Given the description of an element on the screen output the (x, y) to click on. 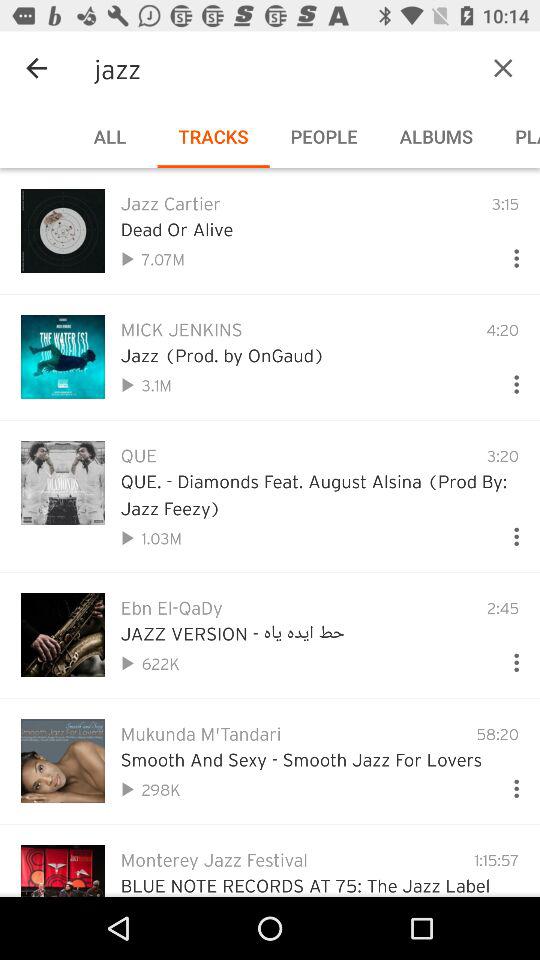
choose the icon next to the jazz (36, 68)
